Given the description of an element on the screen output the (x, y) to click on. 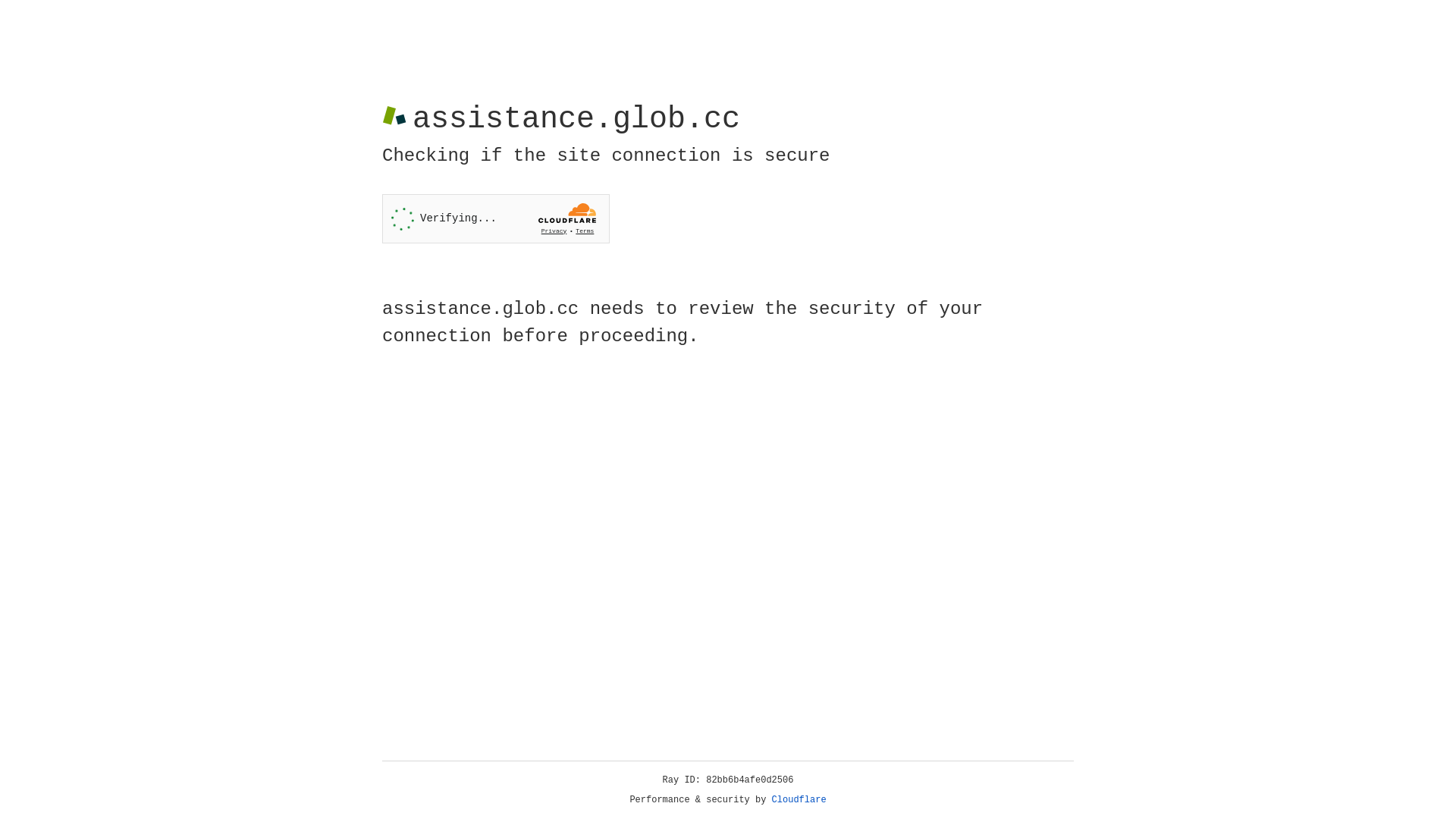
Cloudflare Element type: text (798, 799)
Widget containing a Cloudflare security challenge Element type: hover (495, 218)
